Given the description of an element on the screen output the (x, y) to click on. 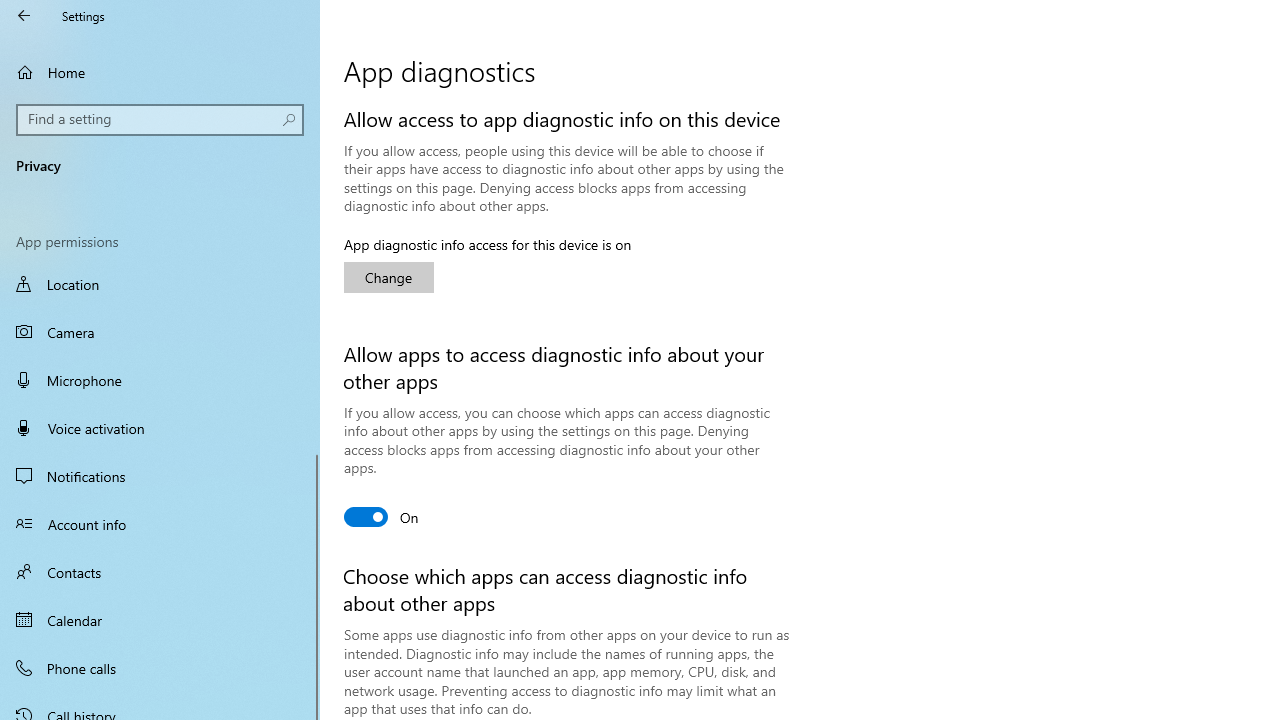
Allow apps to access diagnostic info about your other apps (381, 516)
Microphone (160, 379)
Calendar (160, 619)
Search box, Find a setting (160, 119)
Change (388, 277)
Location (160, 286)
Phone calls (160, 667)
Notifications (160, 475)
Account info (160, 523)
Back (24, 15)
Voice activation (160, 427)
Home (160, 71)
Camera (160, 331)
Contacts (160, 571)
